Given the description of an element on the screen output the (x, y) to click on. 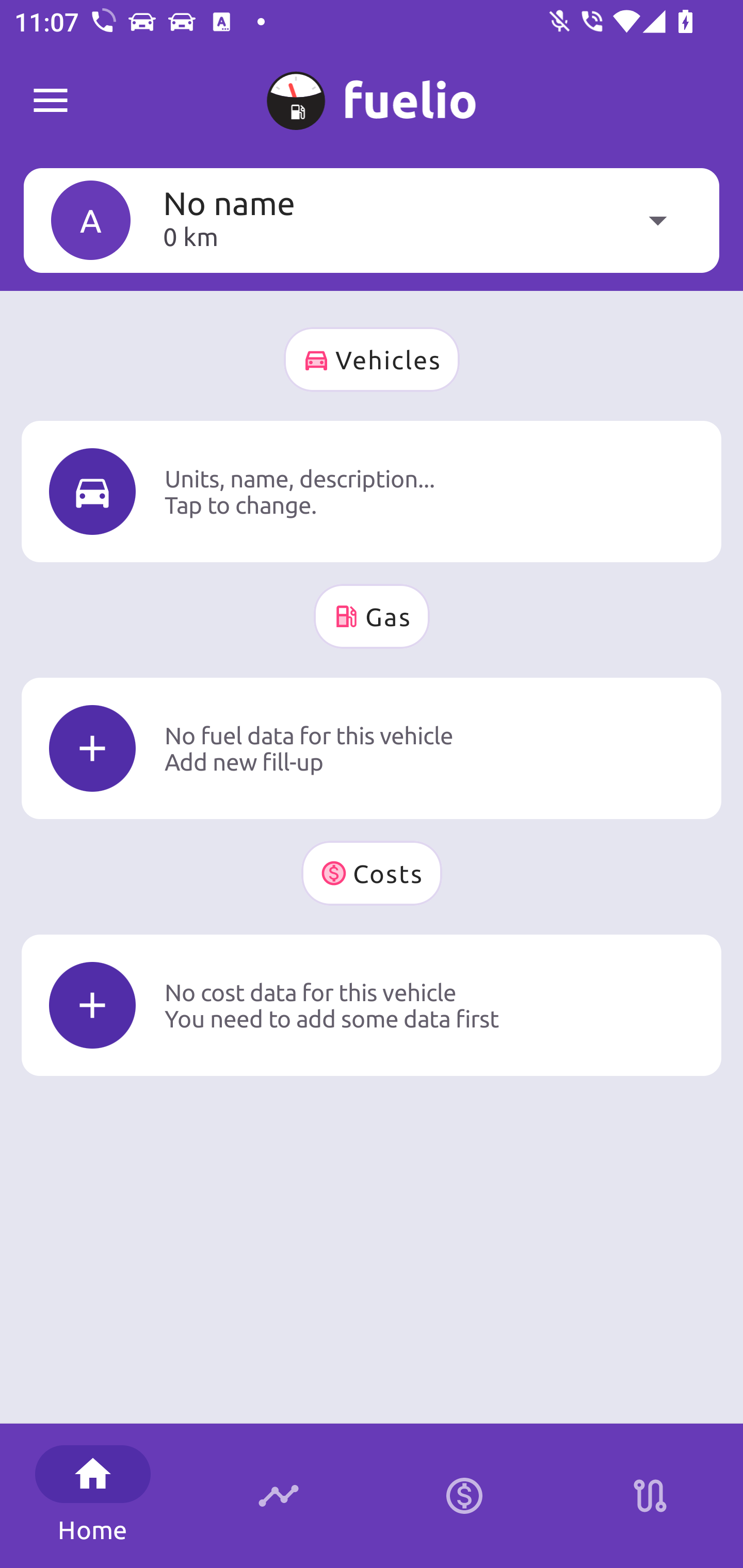
Fuelio (50, 101)
A No name 0 km (371, 219)
Vehicles (371, 359)
Icon Units, name, description...
Tap to change. (371, 491)
Icon (92, 491)
Gas (371, 616)
Icon No fuel data for this vehicle
Add new fill-up (371, 747)
Icon (92, 748)
Costs (371, 873)
Icon (92, 1004)
Timeline (278, 1495)
Calculator (464, 1495)
Stations on route (650, 1495)
